Given the description of an element on the screen output the (x, y) to click on. 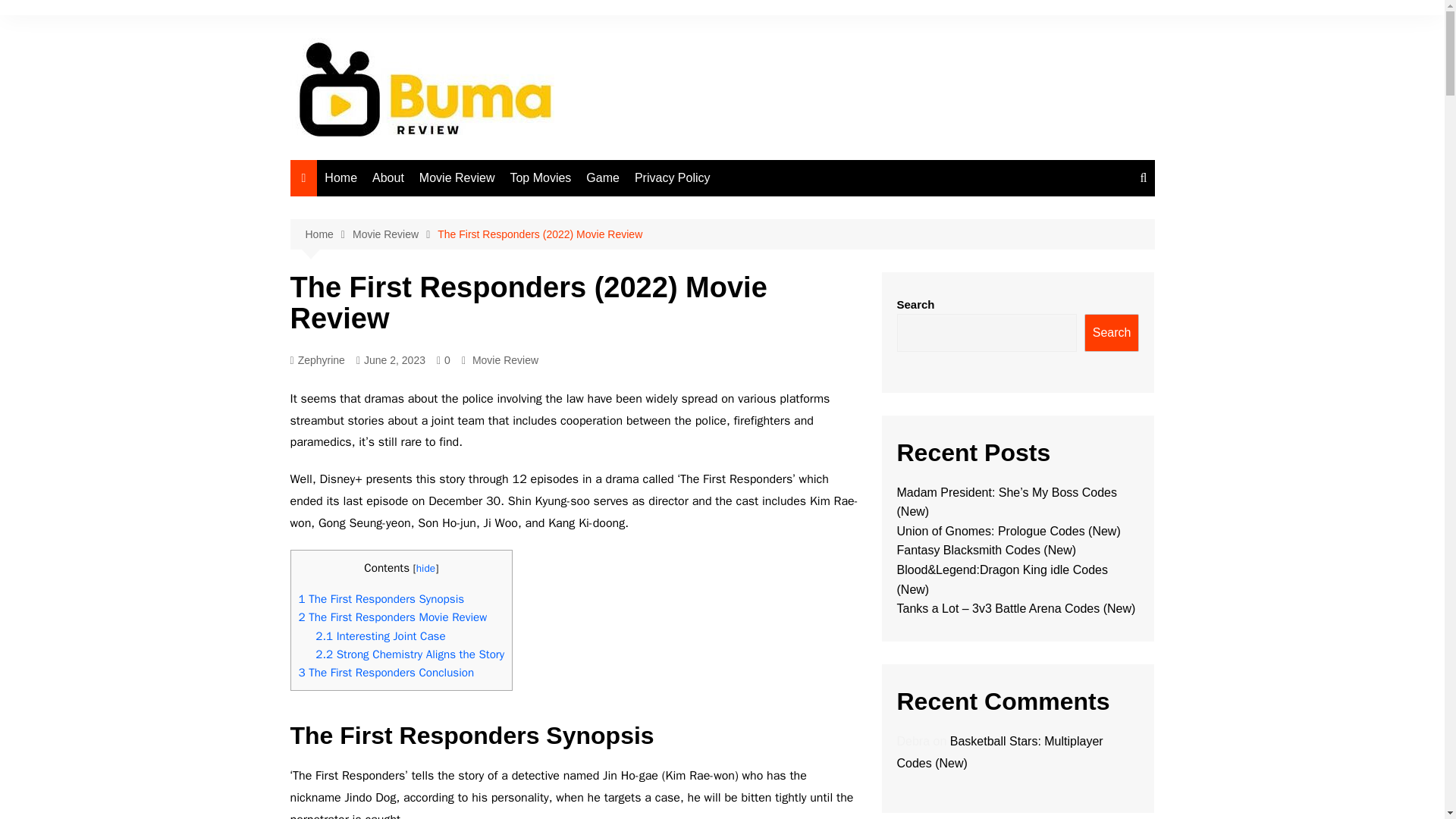
Game (602, 177)
Movie Review (504, 360)
June 2, 2023 (390, 360)
Zephyrine (316, 360)
Movie Review (395, 234)
Home (341, 177)
2 The First Responders Movie Review (392, 616)
2.1 Interesting Joint Case (380, 635)
Home (328, 234)
2.2 Strong Chemistry Aligns the Story (409, 654)
3 The First Responders Conclusion (386, 672)
About (388, 177)
1 The First Responders Synopsis (381, 598)
Top Movies (540, 177)
Privacy Policy (672, 177)
